Given the description of an element on the screen output the (x, y) to click on. 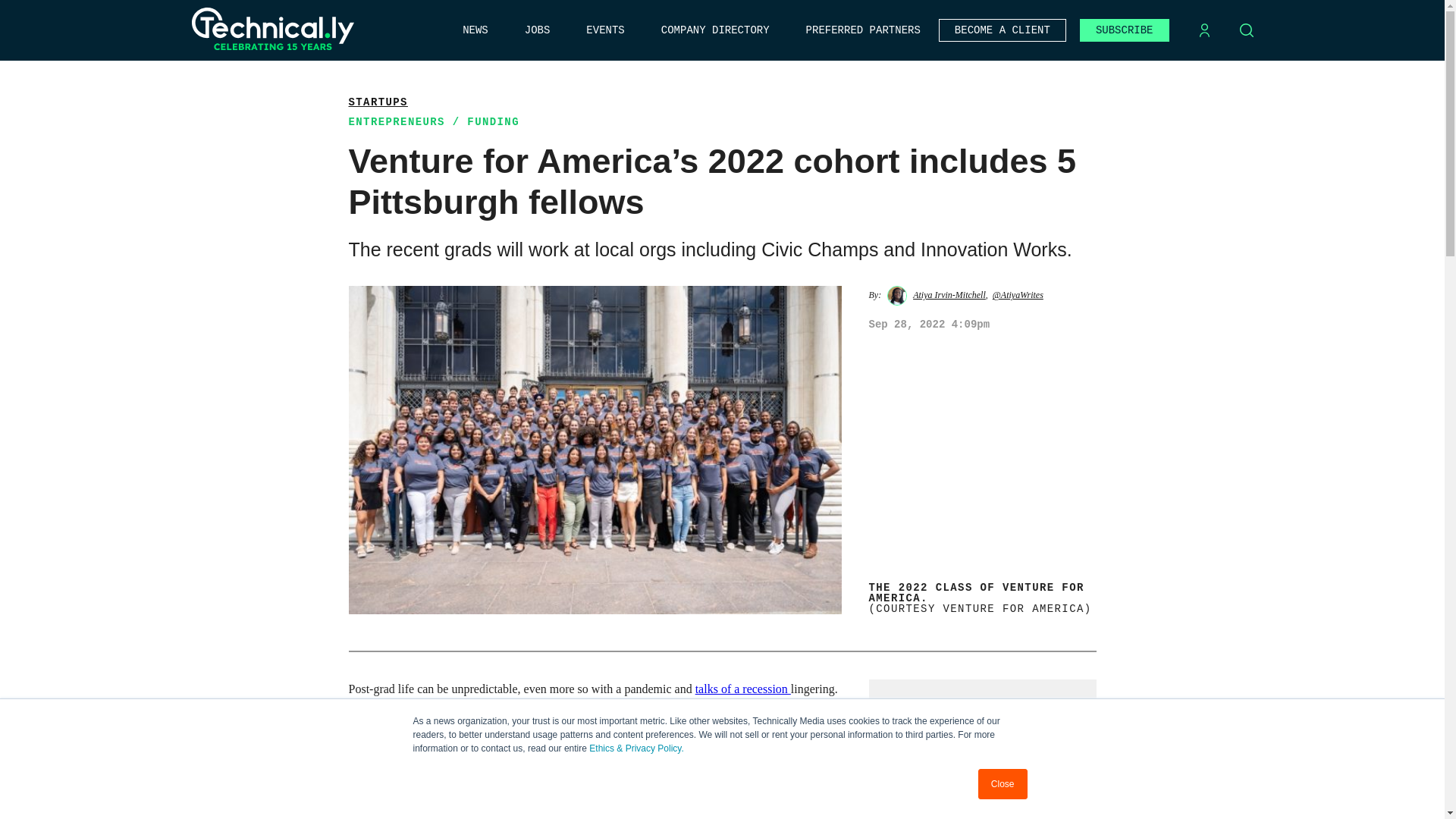
COMPANY DIRECTORY (715, 30)
Company Directory (715, 30)
Subscribe (1124, 29)
News (475, 30)
EVENTS (605, 30)
Philadelphia (793, 785)
Atiya Irvin-Mitchell's Twitter (1017, 294)
FUNDING (493, 121)
NEWS (475, 30)
SUBSCRIBE (1124, 29)
View more (378, 102)
Preferred Partners (863, 30)
Close (1002, 784)
JOBS (537, 30)
PREFERRED PARTNERS (863, 30)
